Given the description of an element on the screen output the (x, y) to click on. 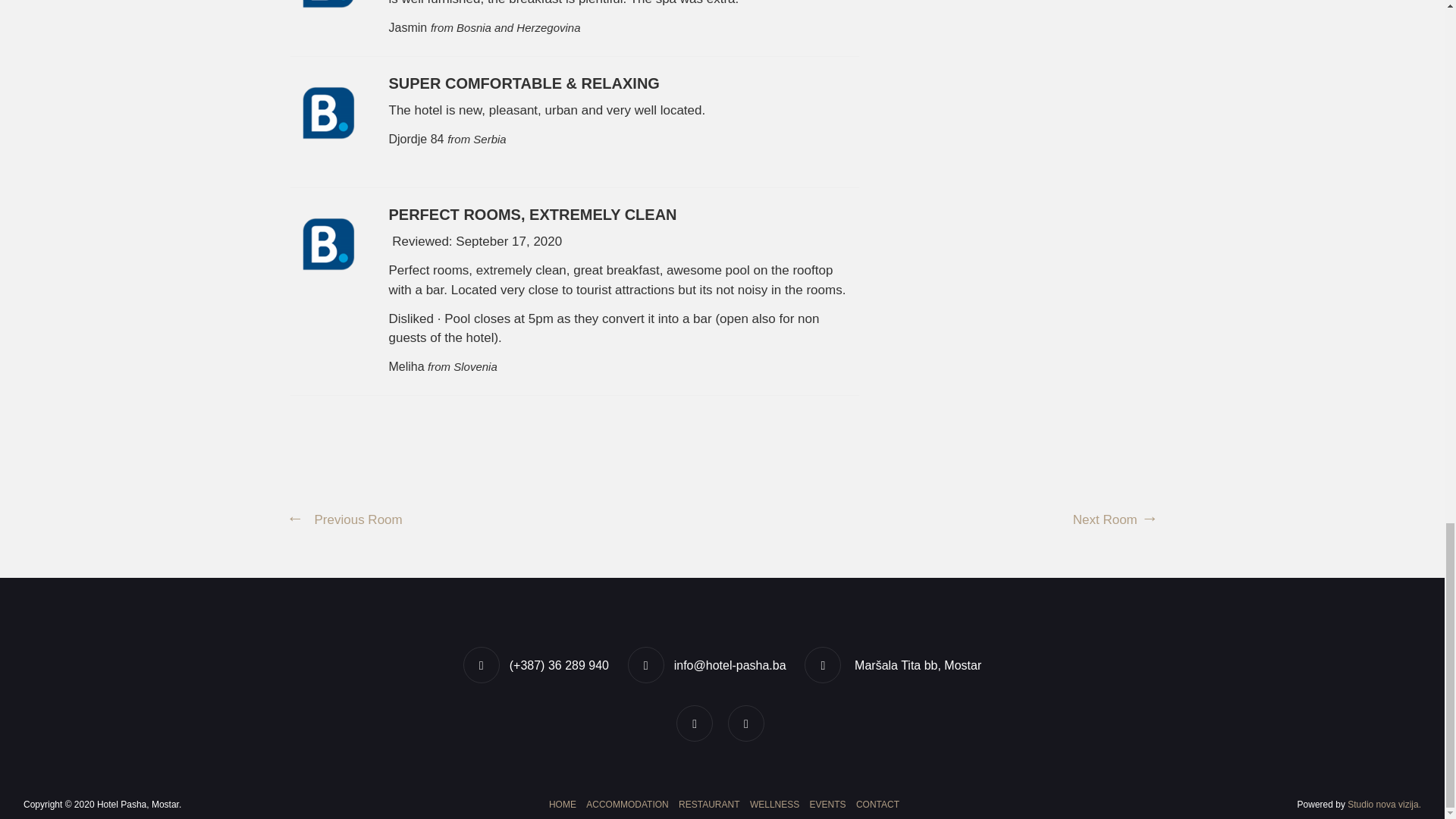
Contact (875, 804)
Restaurant (708, 804)
Home (561, 804)
WELLNESS (774, 804)
Facebook (696, 723)
RESTAURANT (708, 804)
Events (828, 804)
CONTACT (875, 804)
Wellness (774, 804)
ACCOMMODATION (626, 804)
Accommodation (626, 804)
Instagram (747, 723)
HOME (561, 804)
EVENTS (828, 804)
Studio nova vizija. (1384, 804)
